Given the description of an element on the screen output the (x, y) to click on. 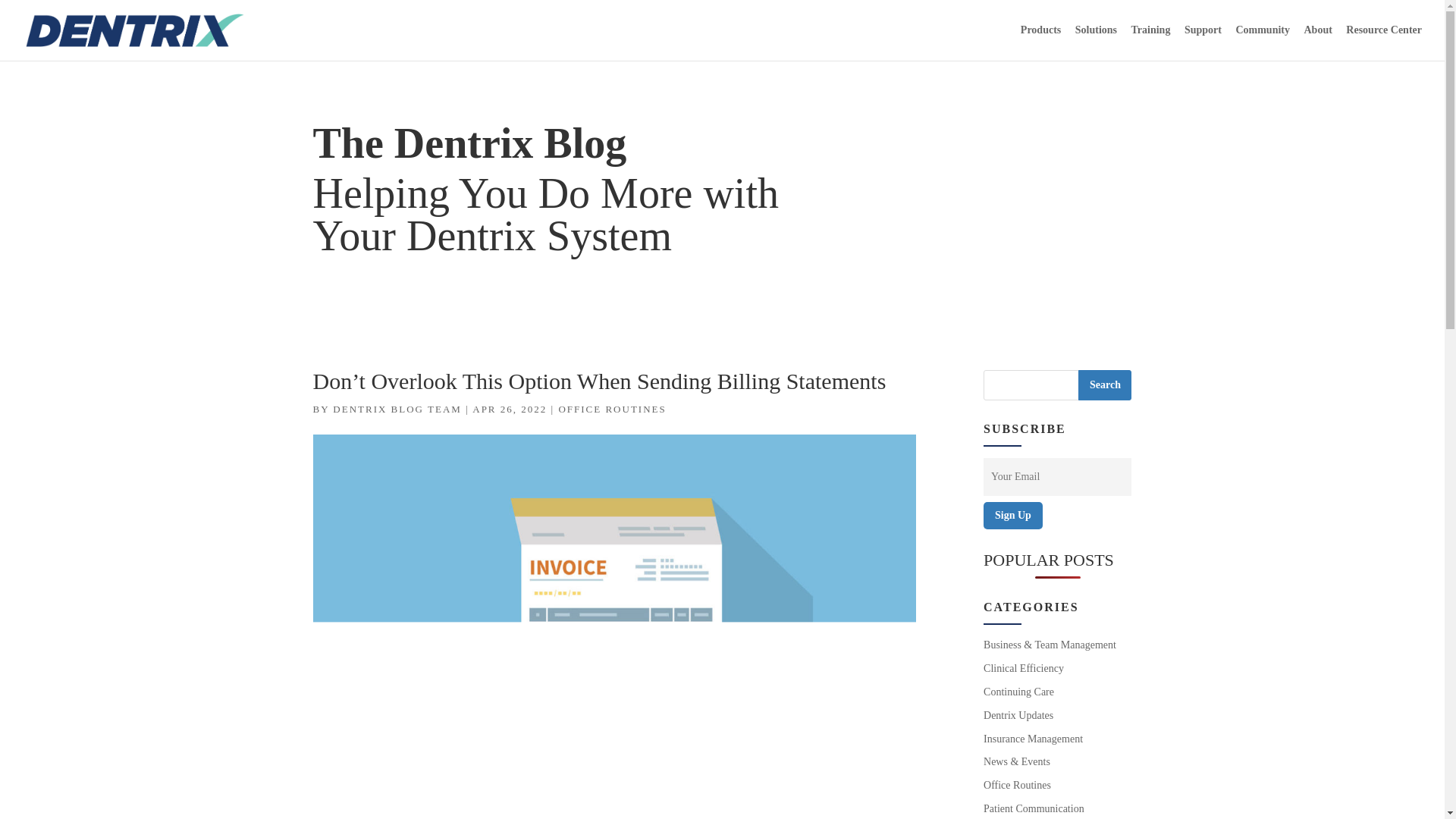
Solutions (1095, 42)
Posts by Dentrix Blog Team (397, 408)
Sign Up (1013, 515)
Products (1040, 42)
Community (1262, 42)
Search (1104, 385)
Support (1203, 42)
Training (1150, 42)
